Given the description of an element on the screen output the (x, y) to click on. 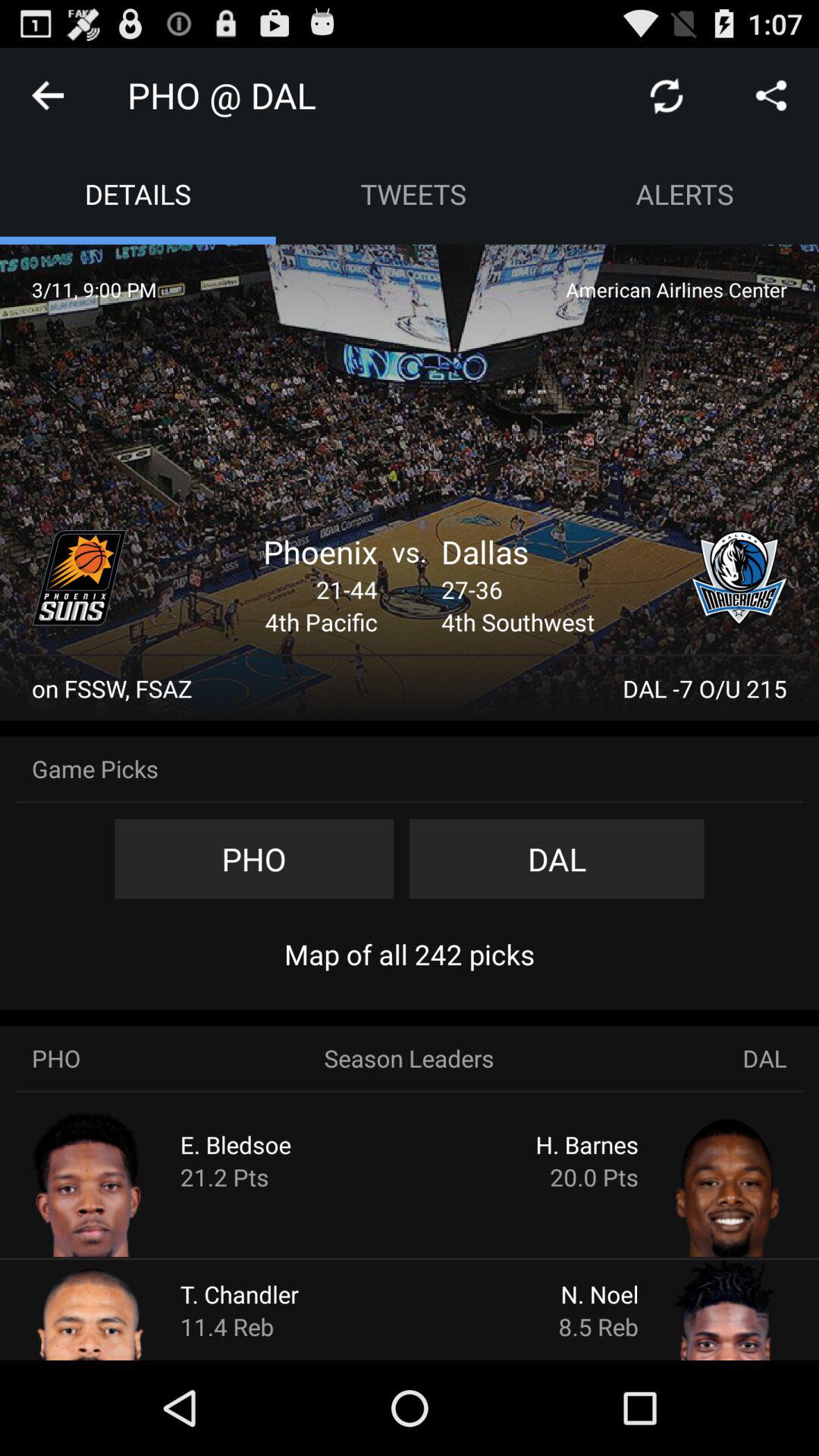
share this page (771, 95)
